Given the description of an element on the screen output the (x, y) to click on. 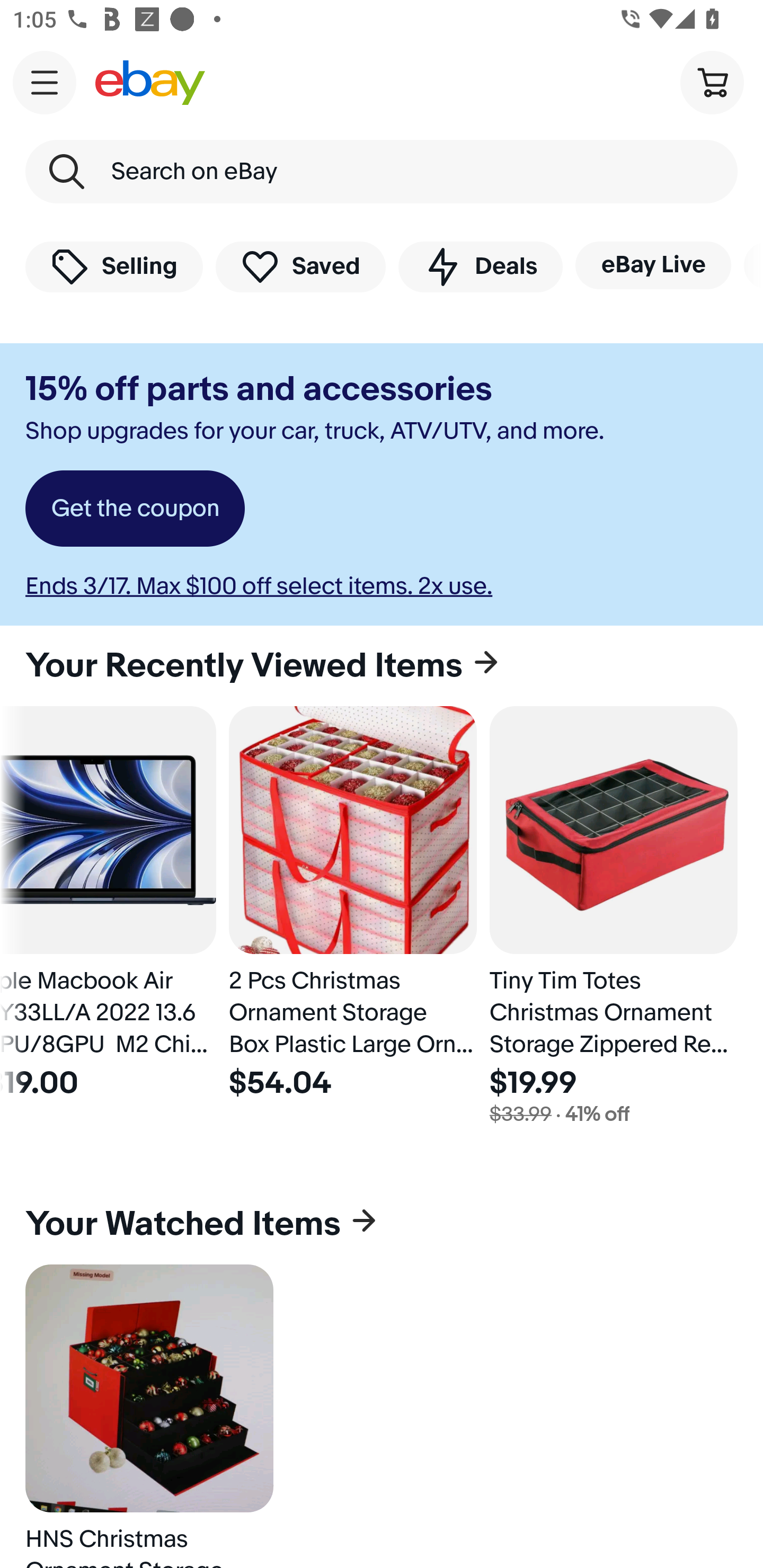
Main navigation, open (44, 82)
Cart button shopping cart (711, 81)
Search on eBay Search Keyword Search on eBay (381, 171)
Selling (113, 266)
Saved (300, 266)
Deals (480, 266)
eBay Live (652, 264)
15% off parts and accessories (258, 389)
Get the coupon (134, 508)
Ends 3/17. Max $100 off select items. 2x use. (258, 586)
Your Recently Viewed Items   (381, 665)
Your Watched Items   (381, 1223)
